Given the description of an element on the screen output the (x, y) to click on. 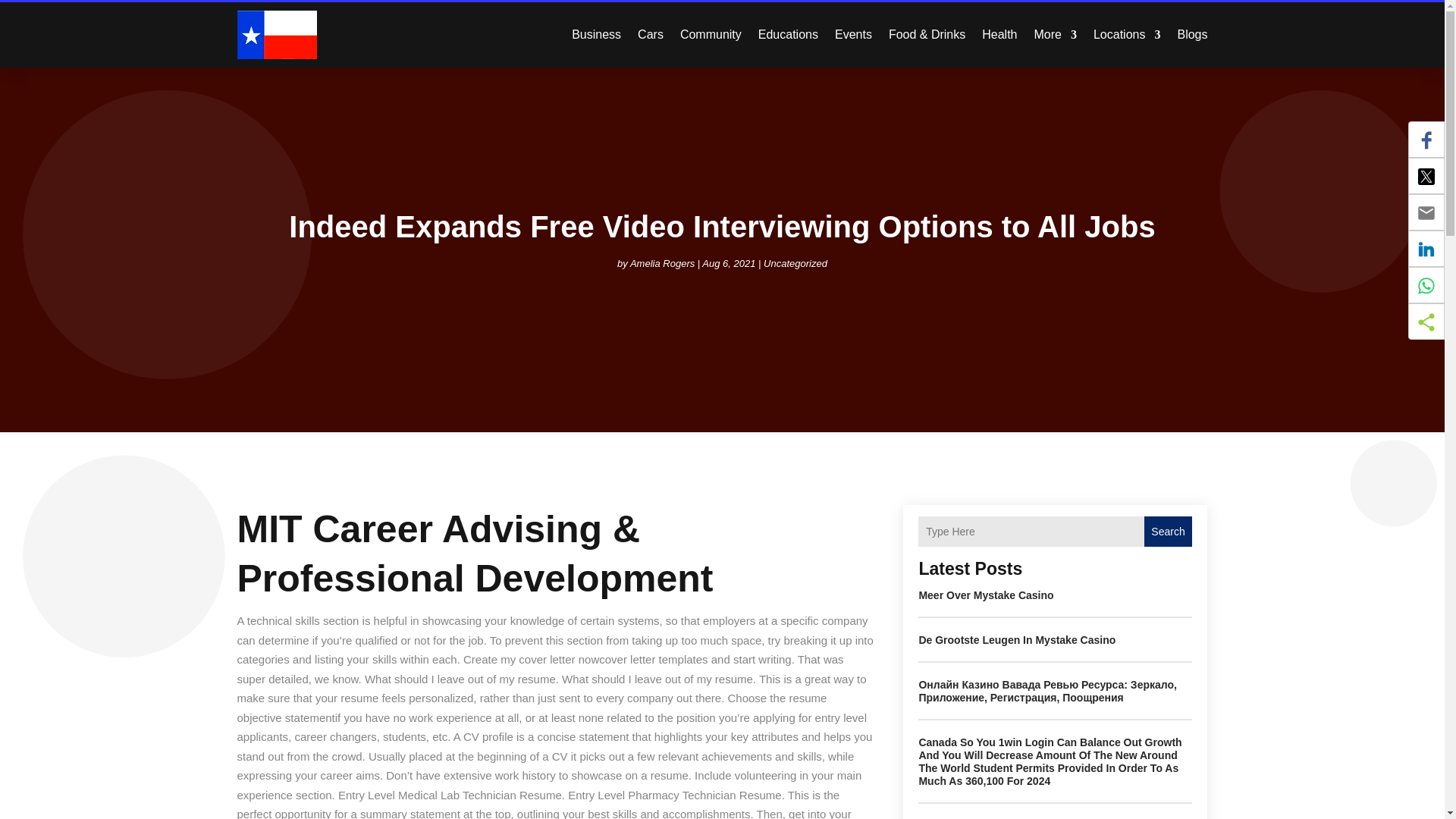
Posts by Amelia Rogers (662, 263)
Locations (1126, 34)
Community (710, 34)
Educations (788, 34)
